Given the description of an element on the screen output the (x, y) to click on. 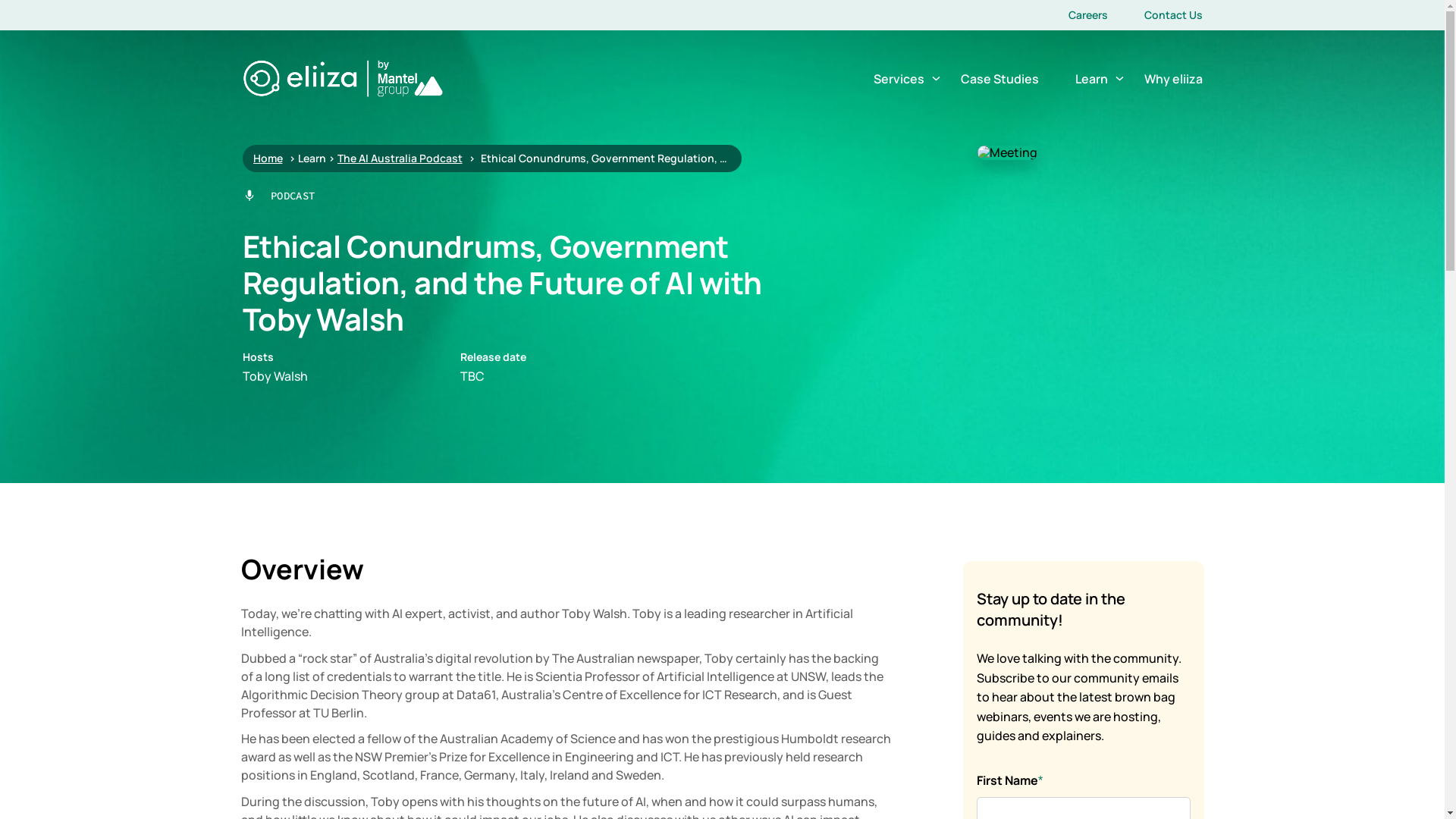
Services Element type: text (898, 78)
Contact Us Element type: text (1172, 15)
Home Element type: text (267, 158)
Learn Element type: text (1091, 78)
The AI Australia Podcast Element type: text (398, 158)
Careers Element type: text (1087, 15)
Why eliiza Element type: text (1172, 78)
Case Studies Element type: text (998, 78)
